Given the description of an element on the screen output the (x, y) to click on. 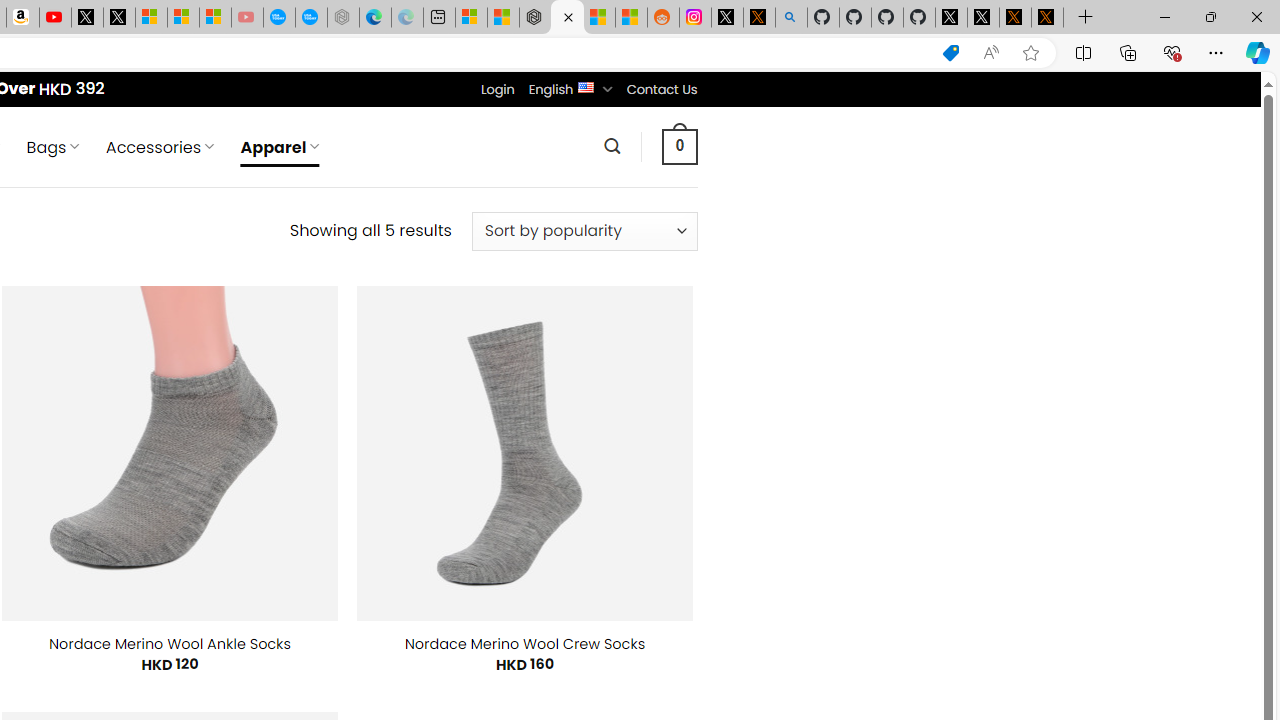
Shop order (584, 231)
X Privacy Policy (1047, 17)
Profile / X (950, 17)
English (586, 86)
